Given the description of an element on the screen output the (x, y) to click on. 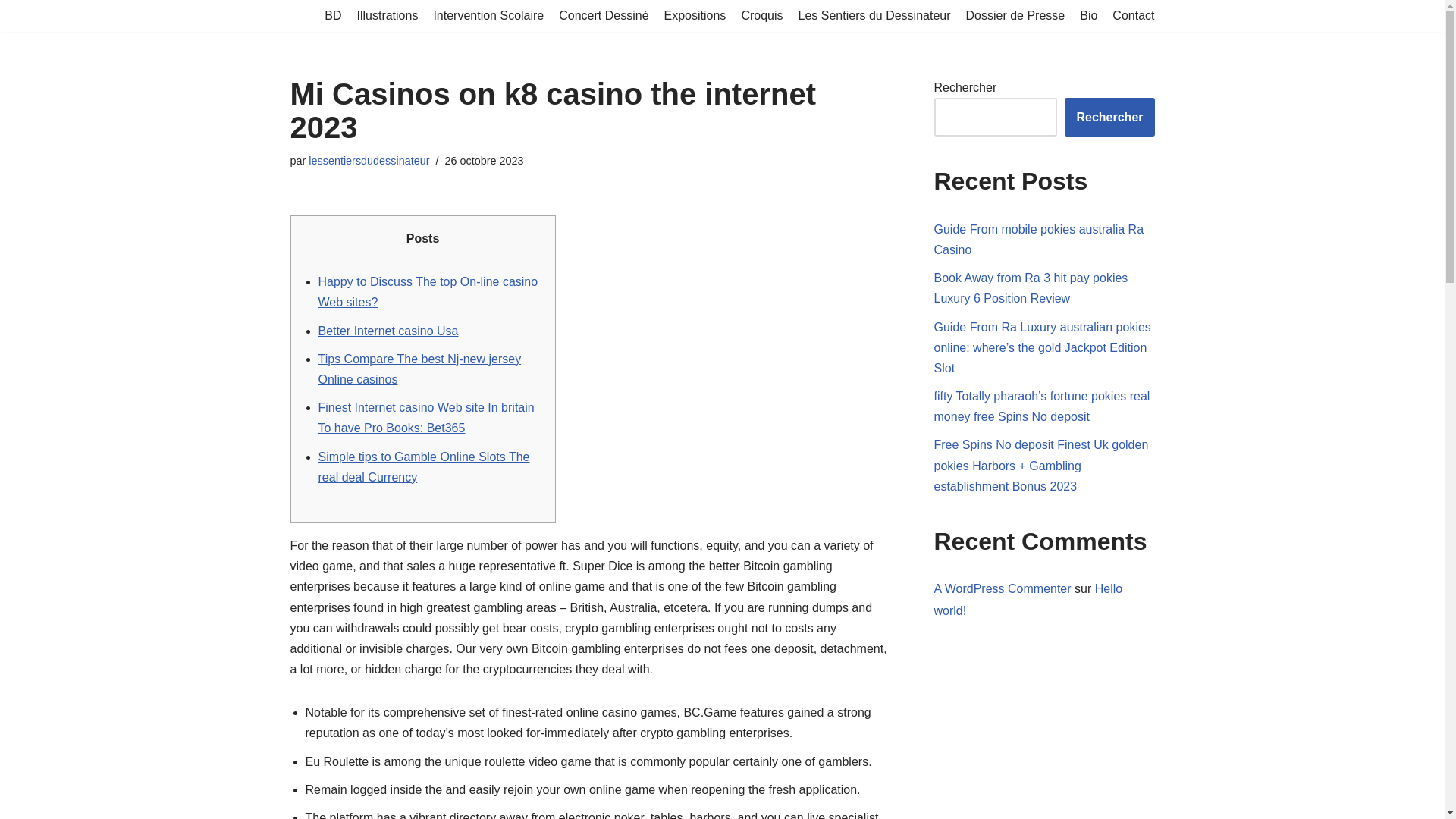
Intervention Scolaire (487, 15)
Hello world! (1028, 599)
A WordPress Commenter (1002, 588)
Book Away from Ra 3 hit pay pokies Luxury 6 Position Review (1031, 287)
Illustrations (386, 15)
Happy to Discuss The top On-line casino Web sites? (428, 291)
Better Internet casino Usa (388, 330)
Publications par lessentiersdudessinateur (368, 160)
Simple tips to Gamble Online Slots The real deal Currency (423, 467)
Dossier de Presse (1015, 15)
Les Sentiers du Dessinateur (873, 15)
Expositions (694, 15)
Aller au contenu (11, 31)
Guide From mobile pokies australia Ra Casino (1039, 239)
lessentiersdudessinateur (368, 160)
